Given the description of an element on the screen output the (x, y) to click on. 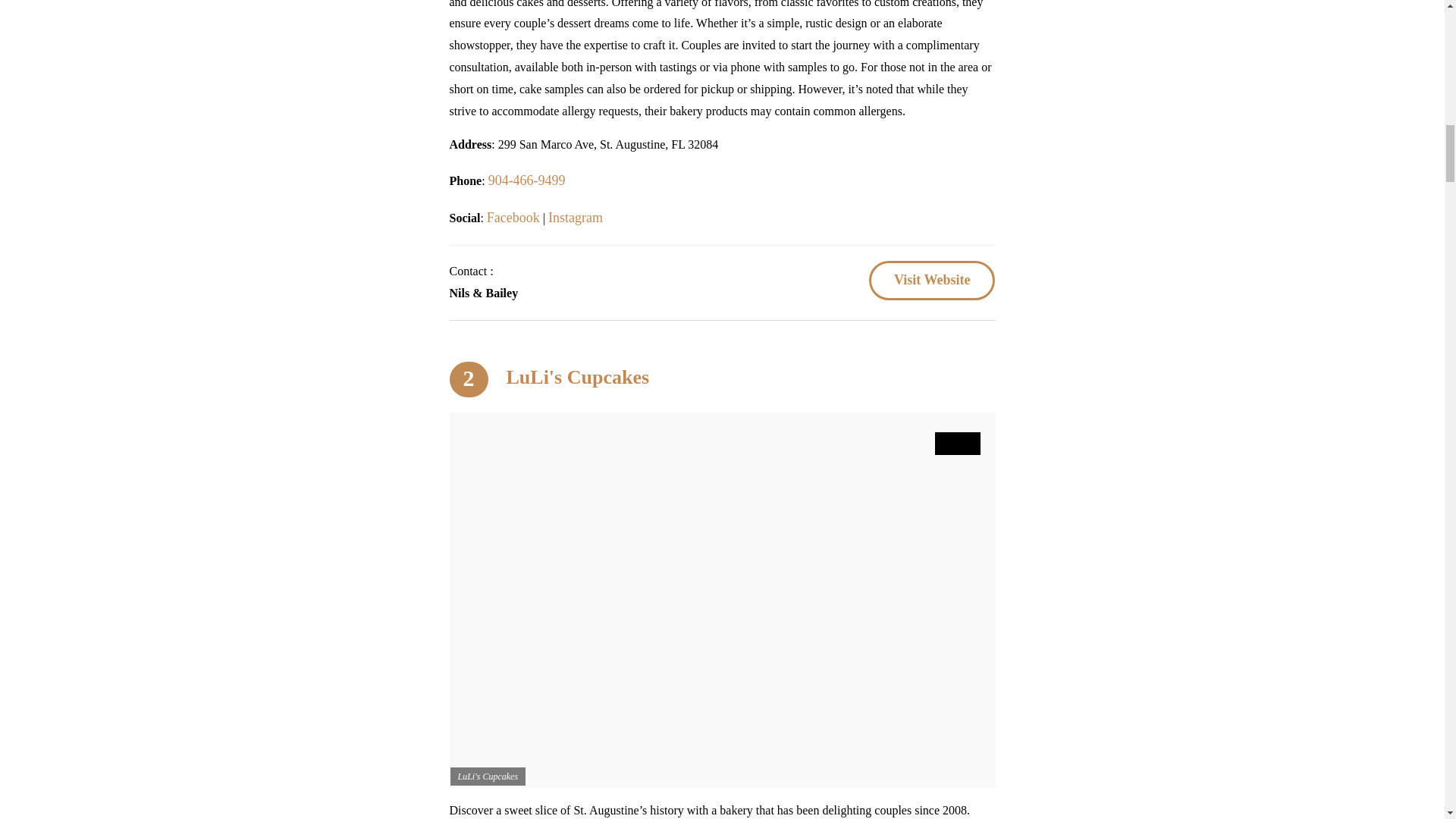
904-466-9499 (526, 180)
